Given the description of an element on the screen output the (x, y) to click on. 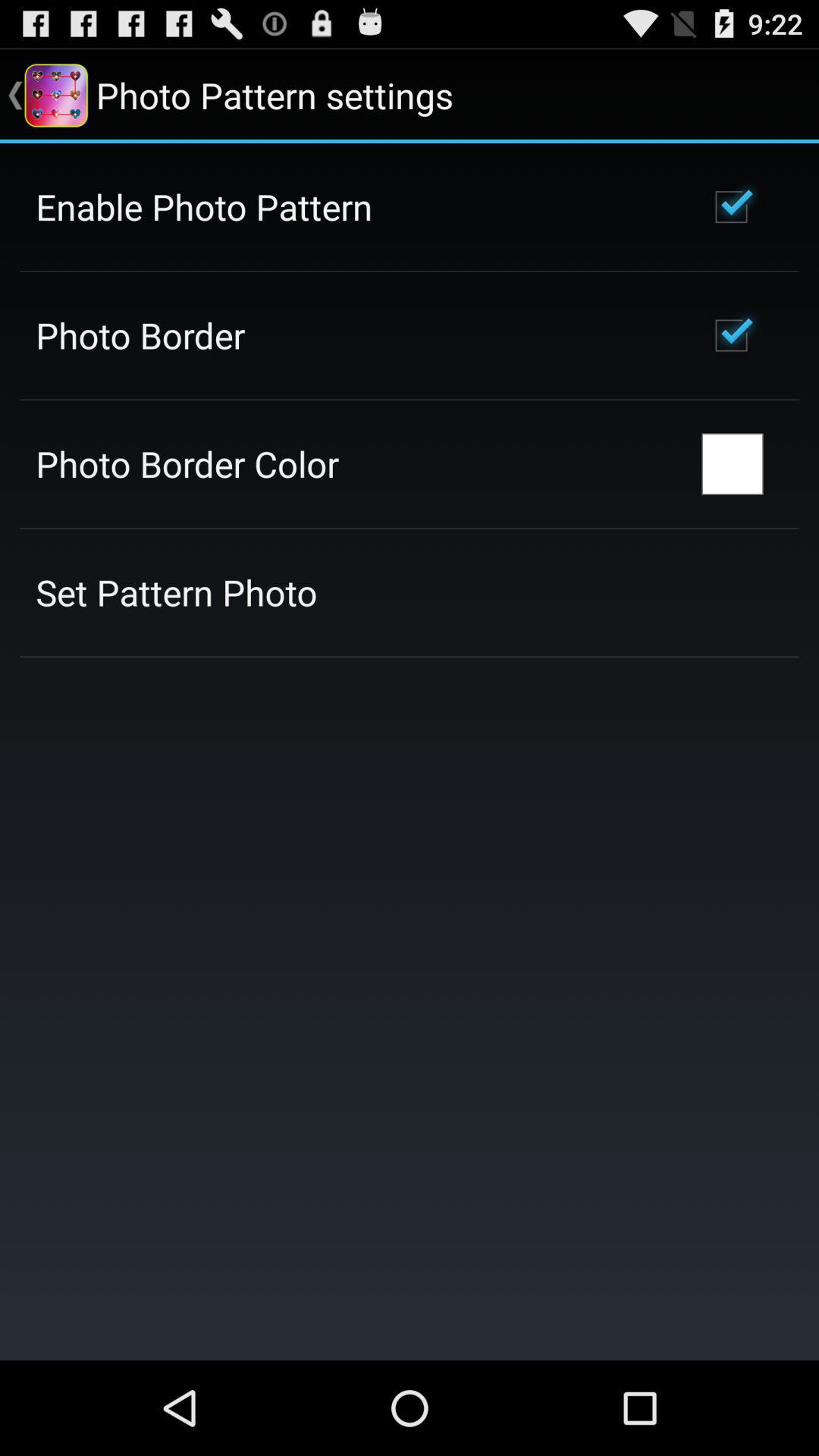
launch the app next to photo border color icon (732, 463)
